Given the description of an element on the screen output the (x, y) to click on. 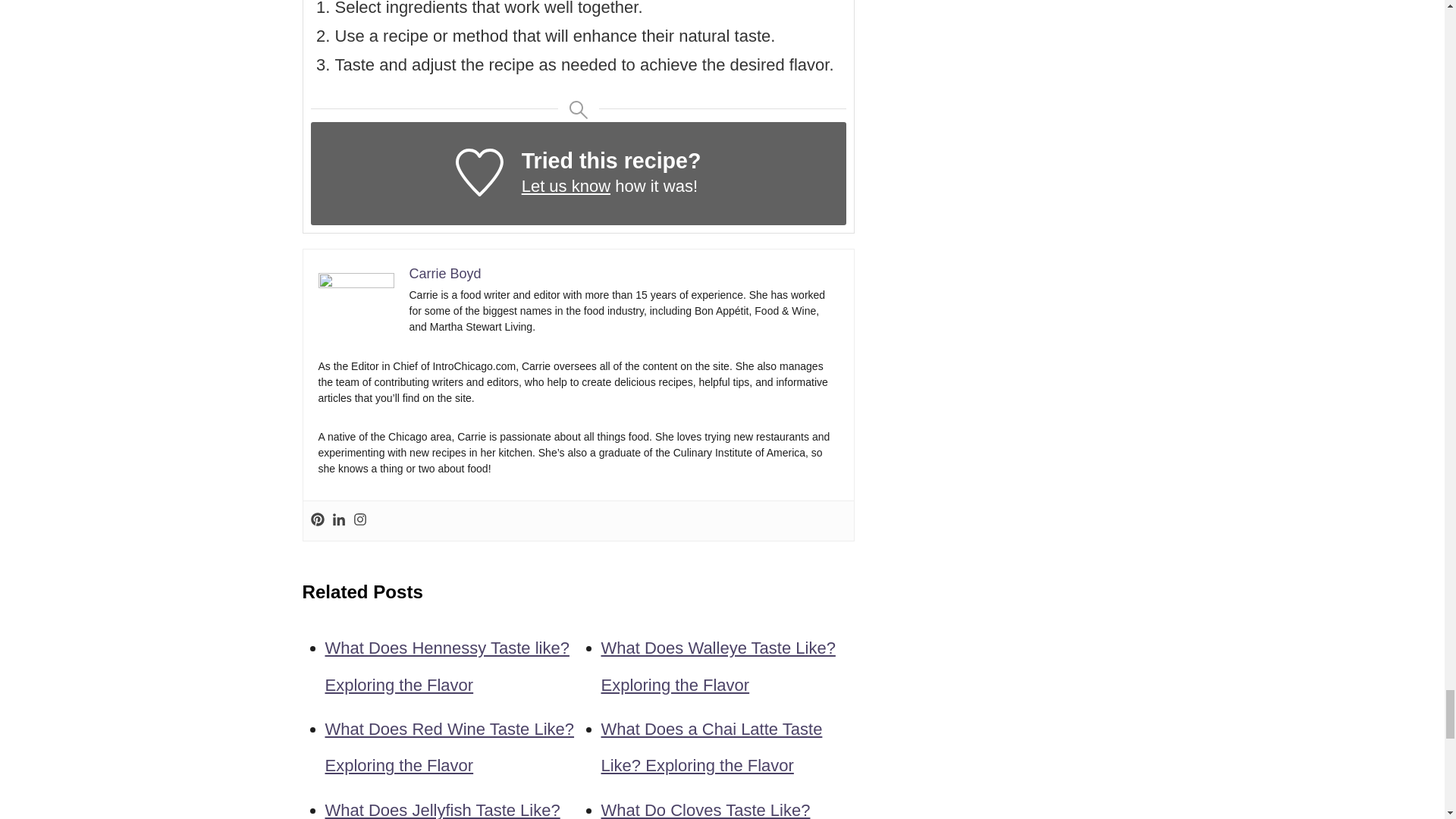
Carrie Boyd (445, 273)
What Does a Chai Latte Taste Like? Exploring the Flavor (710, 746)
What Does Walleye Taste Like? Exploring the Flavor (716, 665)
What Does Jellyfish Taste Like? Exploring the Flavor (441, 809)
Let us know (565, 185)
What Does Red Wine Taste Like? Exploring the Flavor (448, 746)
What Does Hennessy Taste like? Exploring the Flavor (446, 665)
